Given the description of an element on the screen output the (x, y) to click on. 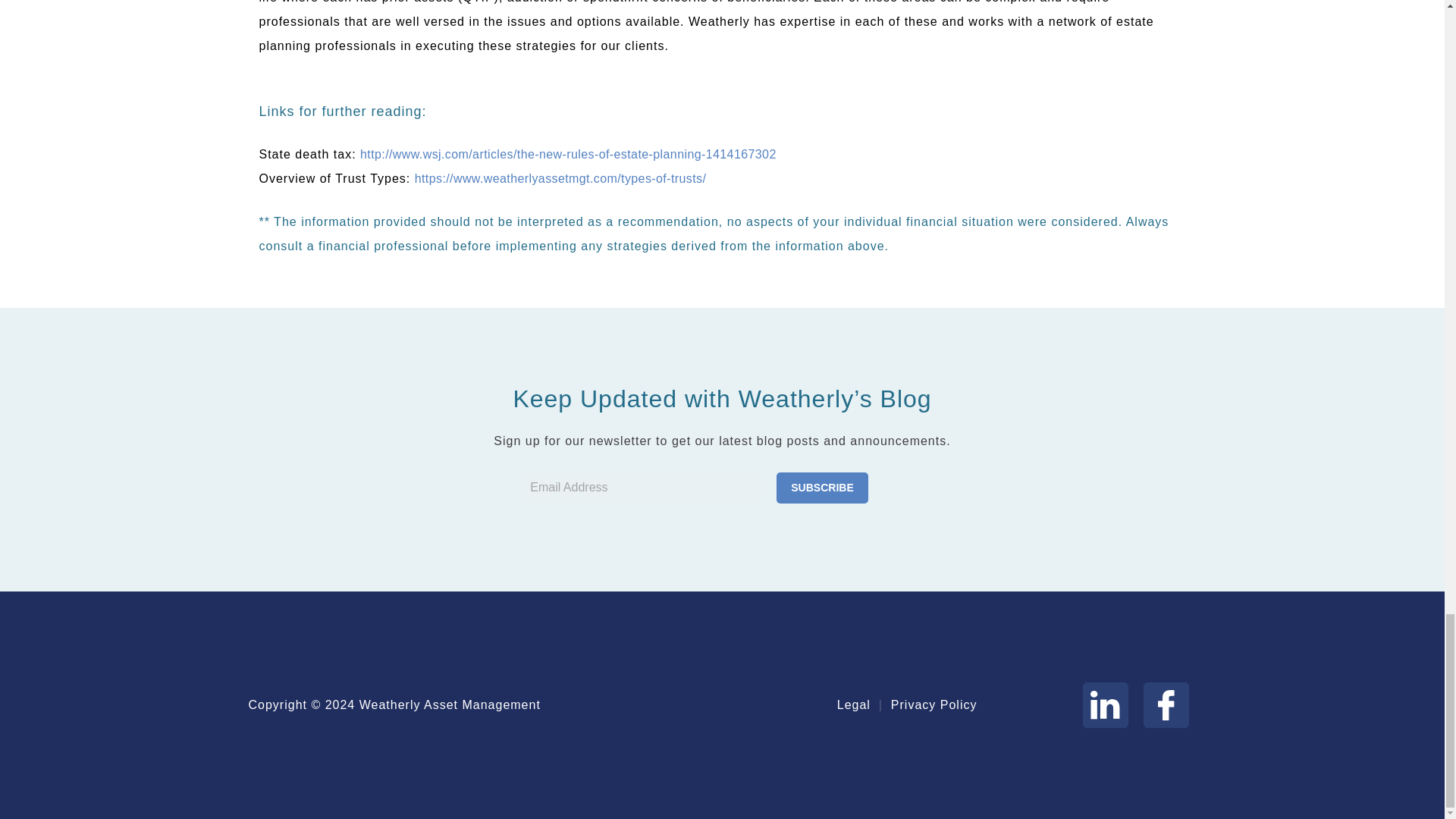
SUBSCRIBE (821, 487)
